Given the description of an element on the screen output the (x, y) to click on. 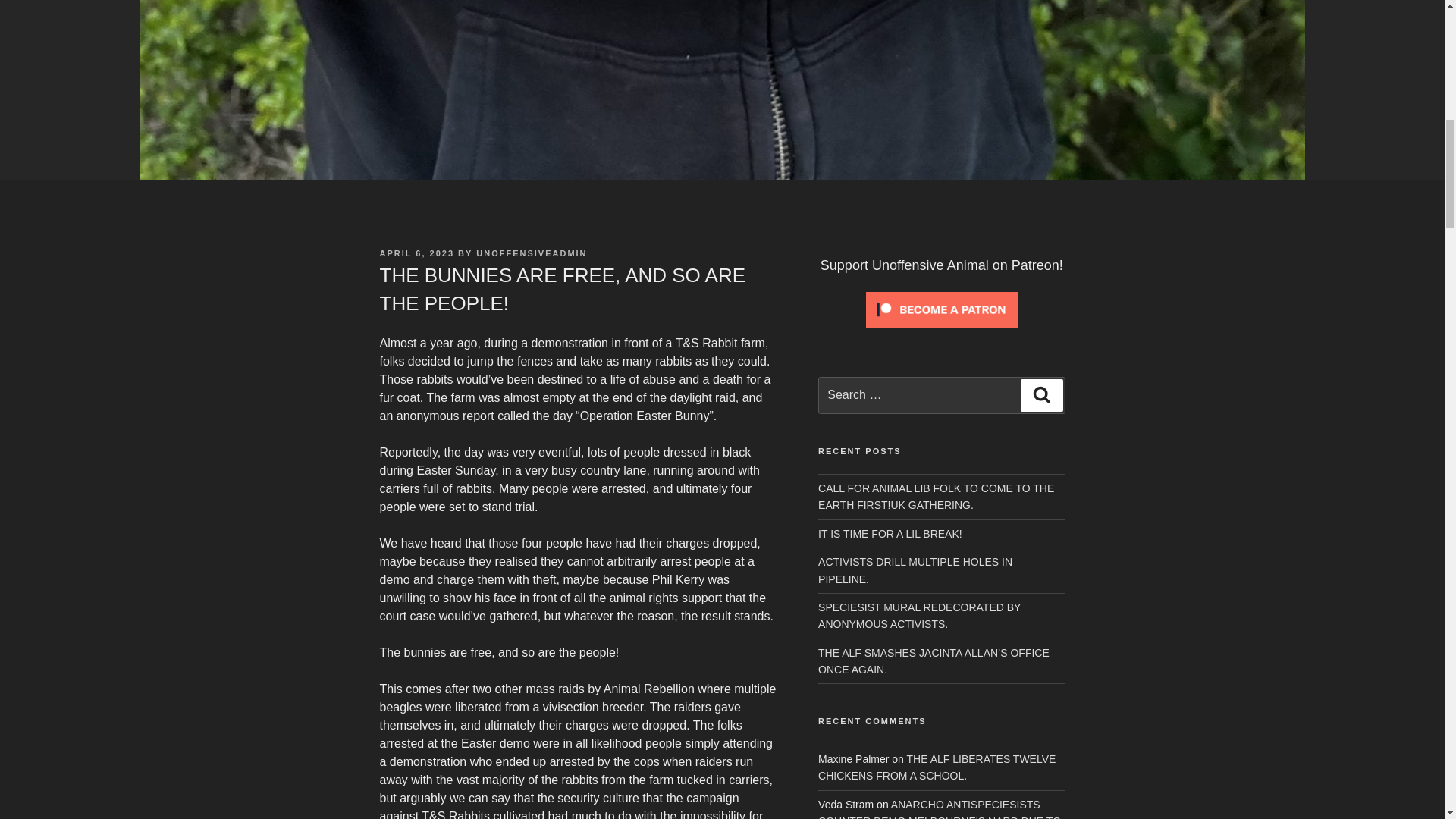
THE ALF LIBERATES TWELVE CHICKENS FROM A SCHOOL. (936, 767)
IT IS TIME FOR A LIL BREAK! (890, 533)
UNOFFENSIVEADMIN (531, 252)
SPECIESIST MURAL REDECORATED BY ANONYMOUS ACTIVISTS. (919, 615)
ACTIVISTS DRILL MULTIPLE HOLES IN PIPELINE. (914, 570)
Search (1041, 395)
APRIL 6, 2023 (416, 252)
